Given the description of an element on the screen output the (x, y) to click on. 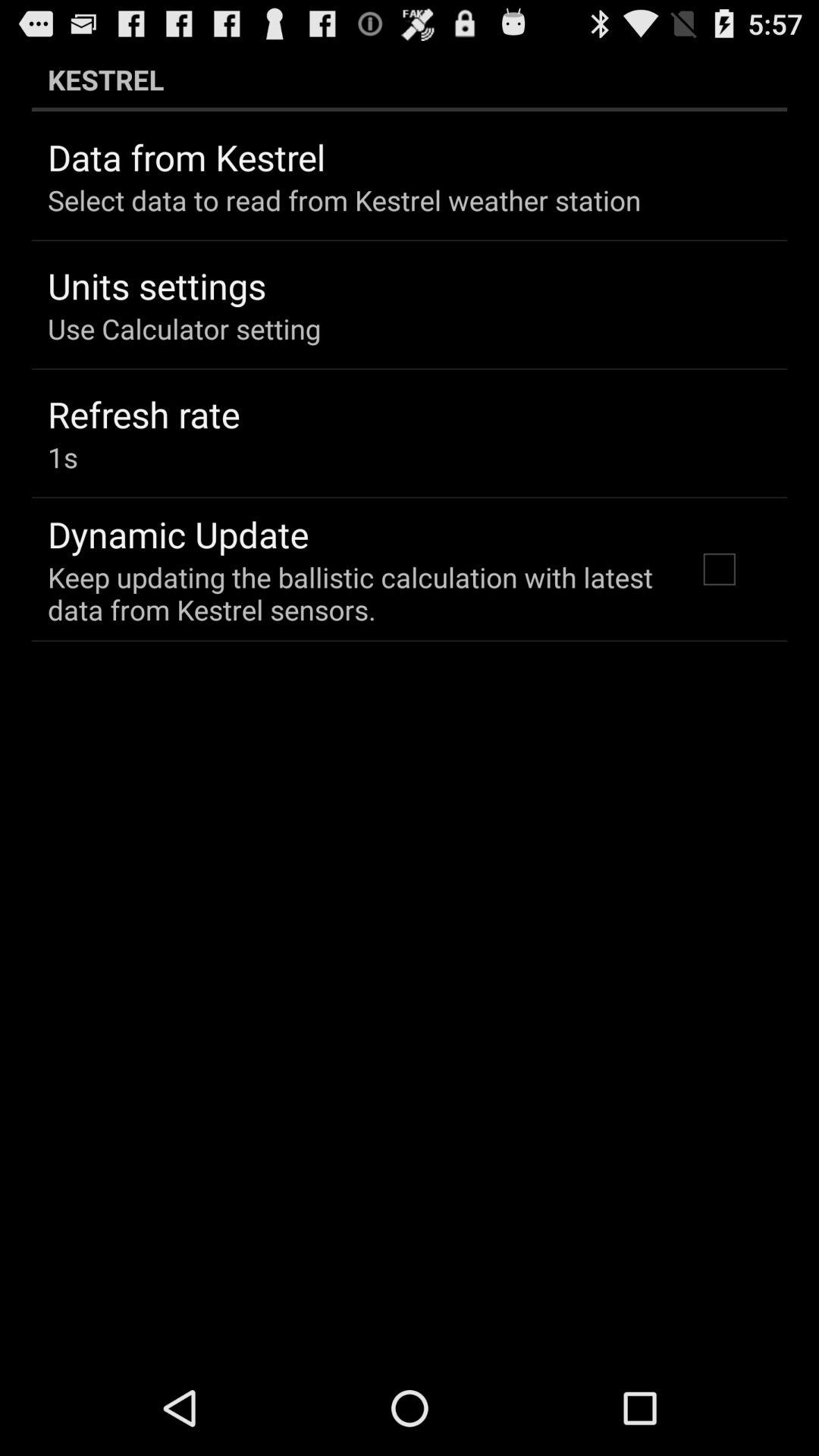
scroll to the dynamic update app (177, 534)
